Given the description of an element on the screen output the (x, y) to click on. 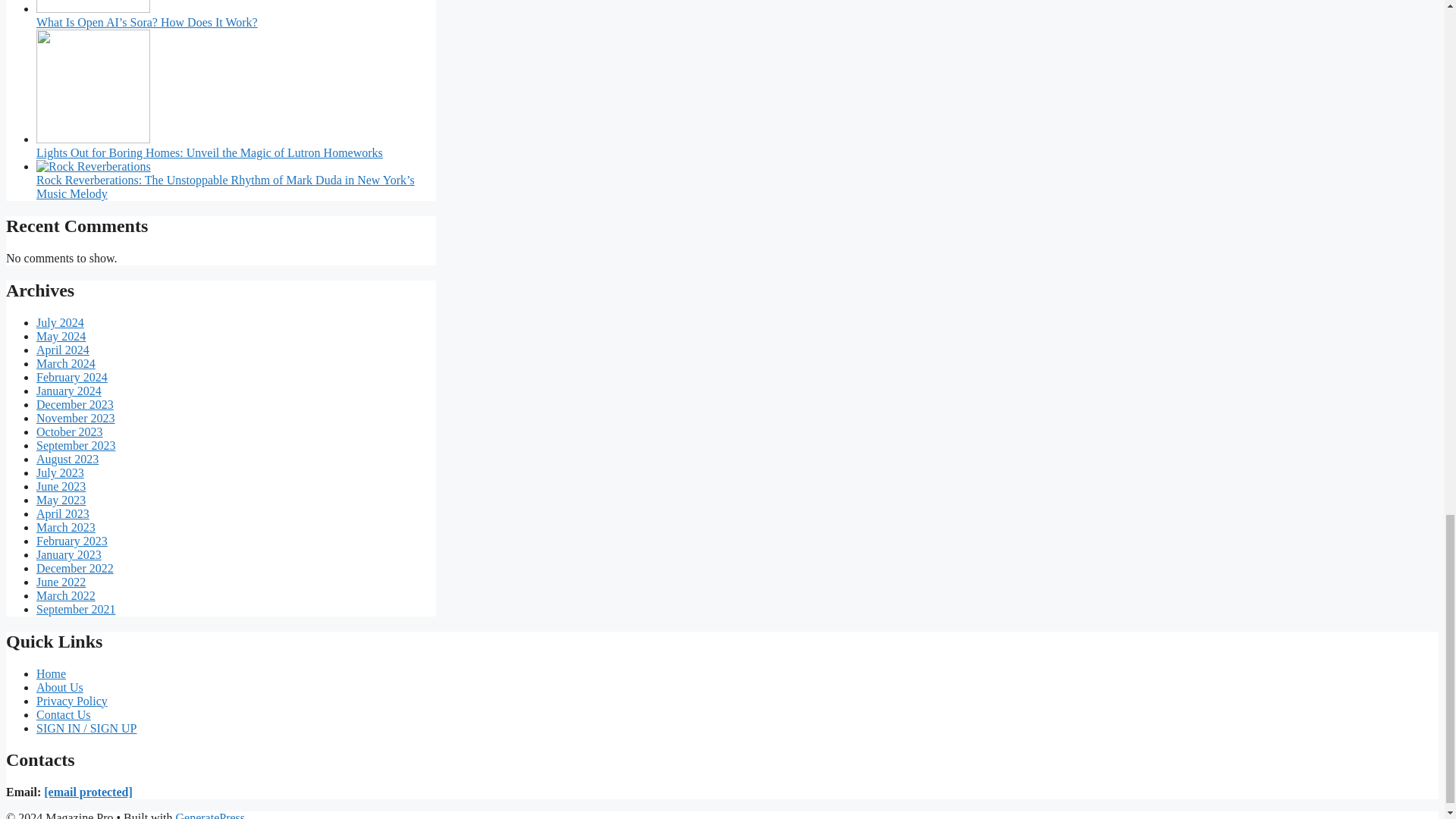
January 2024 (68, 390)
December 2023 (74, 404)
March 2024 (66, 363)
July 2024 (60, 322)
February 2024 (71, 377)
April 2024 (62, 349)
May 2024 (60, 336)
